Given the description of an element on the screen output the (x, y) to click on. 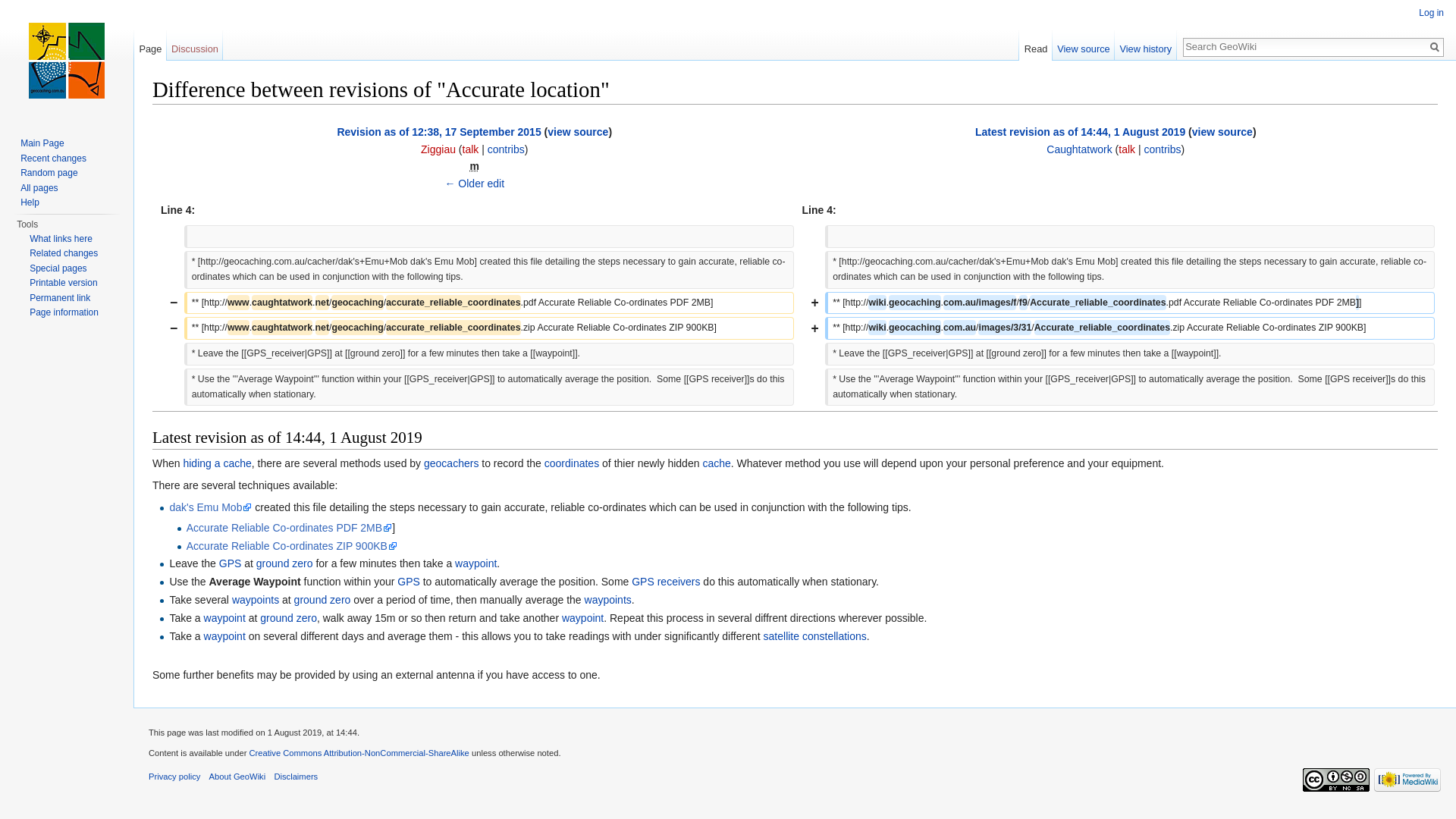
Visit the main page Element type: hover (66, 60)
dak's Emu Mob Element type: text (210, 507)
contribs Element type: text (505, 149)
Ziggiau Element type: text (437, 149)
Related changes Element type: text (63, 252)
waypoint Element type: text (224, 617)
Go to a page with this exact name if it exists Element type: hover (1434, 46)
All pages Element type: text (38, 187)
Accurate Reliable Co-ordinates ZIP 900KB Element type: text (291, 545)
Page Element type: text (150, 45)
GPS receivers Element type: text (665, 581)
ground zero Element type: text (322, 599)
Disclaimers Element type: text (295, 776)
Page information Element type: text (63, 312)
Read Element type: text (1035, 45)
Creative Commons Attribution-NonCommercial-ShareAlike Element type: text (358, 752)
Go Element type: text (1434, 46)
GPS Element type: text (408, 581)
View source Element type: text (1083, 45)
coordinates Element type: text (571, 463)
Latest revision as of 14:44, 1 August 2019 Element type: text (1080, 131)
talk Element type: text (1126, 149)
waypoints Element type: text (255, 599)
View history Element type: text (1145, 45)
Help Element type: text (29, 202)
geocachers Element type: text (450, 463)
Caughtatwork Element type: text (1078, 149)
What links here Element type: text (60, 238)
Discussion Element type: text (194, 45)
waypoints Element type: text (607, 599)
Permanent link Element type: text (59, 297)
contribs Element type: text (1161, 149)
GPS Element type: text (230, 563)
waypoint Element type: text (224, 636)
ground zero Element type: text (288, 617)
waypoint Element type: text (582, 617)
Special pages Element type: text (57, 267)
Random page Element type: text (48, 172)
Main Page Element type: text (41, 143)
view source Element type: text (1222, 131)
Revision as of 12:38, 17 September 2015 Element type: text (438, 131)
Search GeoWiki [alt-shift-f] Element type: hover (1304, 45)
satellite constellations Element type: text (814, 636)
cache Element type: text (716, 463)
Log in Element type: text (1430, 12)
Privacy policy Element type: text (174, 776)
hiding a cache Element type: text (216, 463)
talk Element type: text (470, 149)
waypoint Element type: text (475, 563)
About GeoWiki Element type: text (237, 776)
ground zero Element type: text (284, 563)
Printable version Element type: text (63, 282)
view source Element type: text (577, 131)
Accurate Reliable Co-ordinates PDF 2MB Element type: text (289, 527)
Recent changes Element type: text (53, 158)
